Given the description of an element on the screen output the (x, y) to click on. 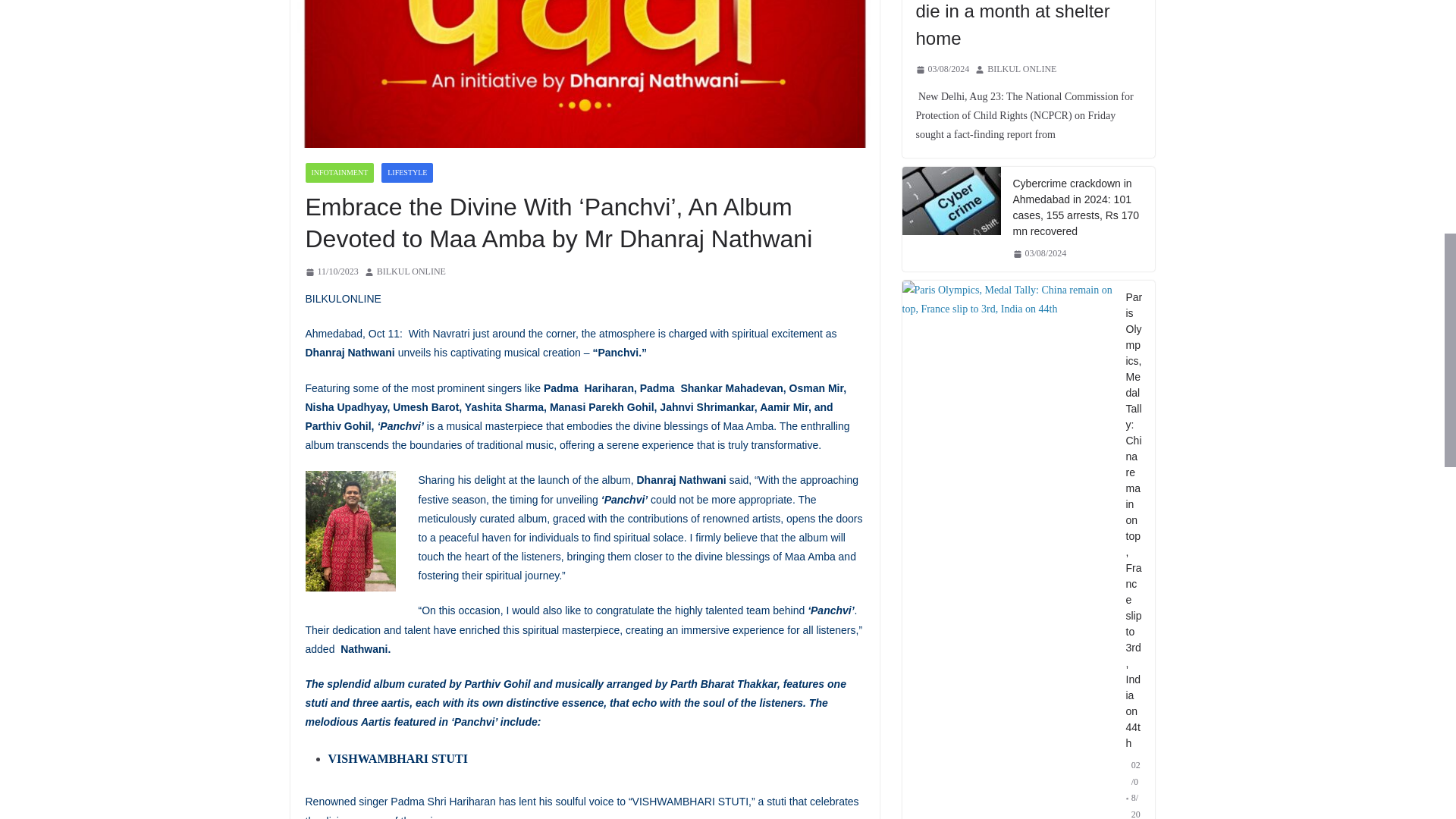
INFOTAINMENT (339, 172)
6:20 pm (331, 271)
BILKUL ONLINE (411, 271)
LIFESTYLE (406, 172)
BILKUL ONLINE (411, 271)
